Given the description of an element on the screen output the (x, y) to click on. 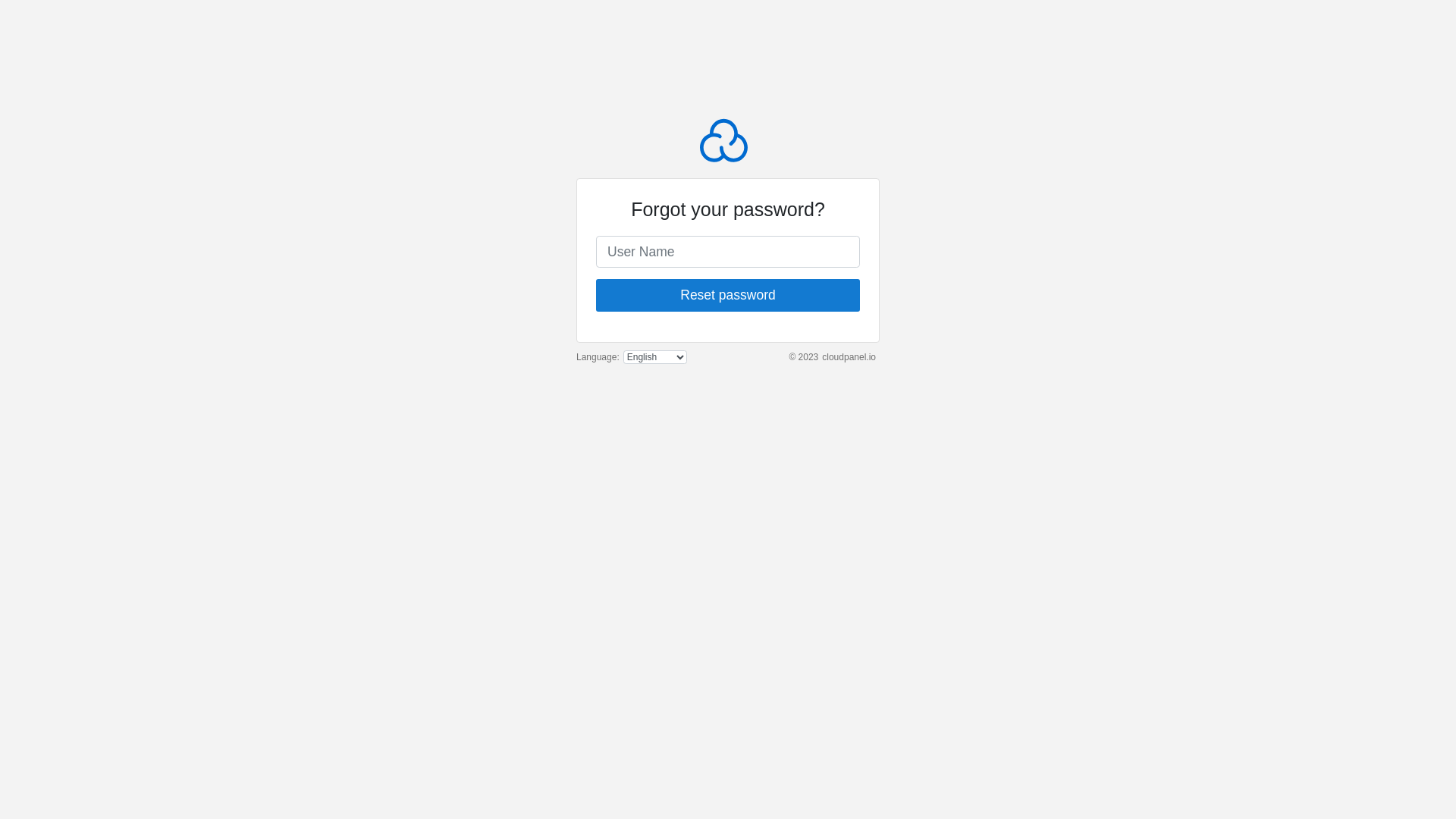
Reset password Element type: text (727, 294)
cloudpanel.io Element type: text (848, 356)
